Given the description of an element on the screen output the (x, y) to click on. 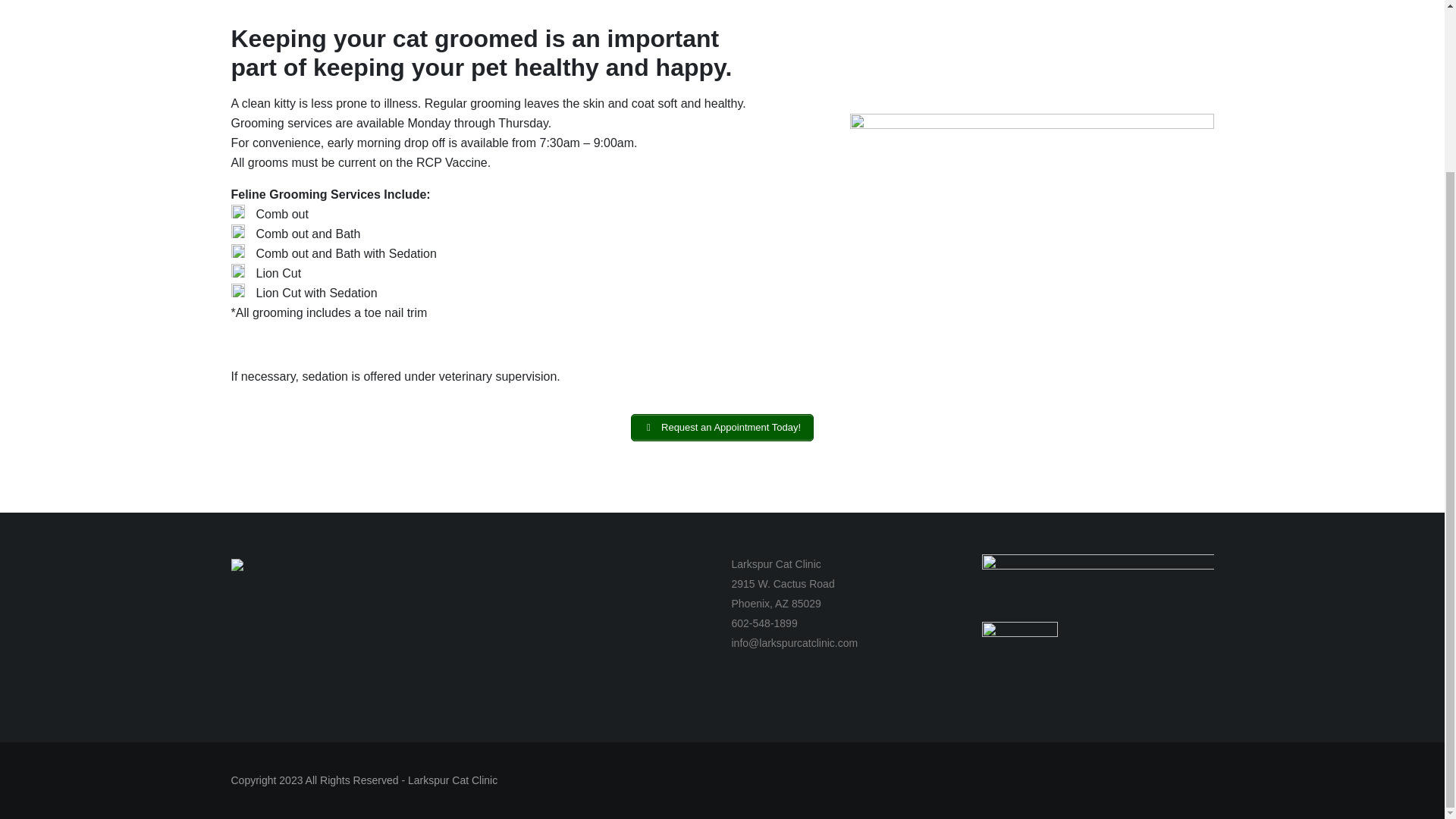
Request an Appointment Today! (721, 427)
